Given the description of an element on the screen output the (x, y) to click on. 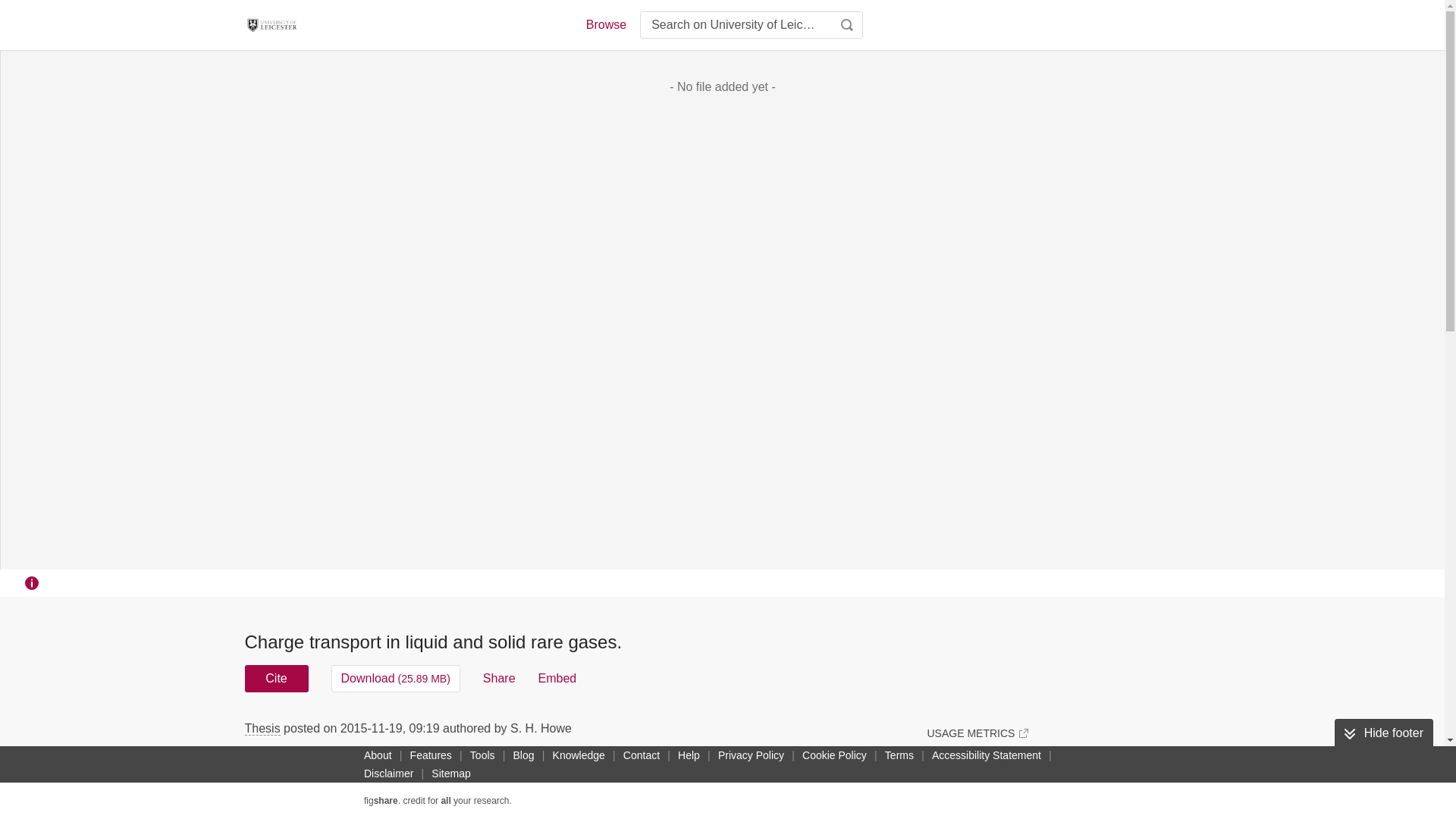
Terms (899, 755)
Browse (605, 24)
Tools (482, 755)
Cookie Policy (833, 755)
Help (688, 755)
Disclaimer (388, 773)
Contact (640, 755)
Cite (275, 678)
Share (499, 678)
Blog (523, 755)
